Given the description of an element on the screen output the (x, y) to click on. 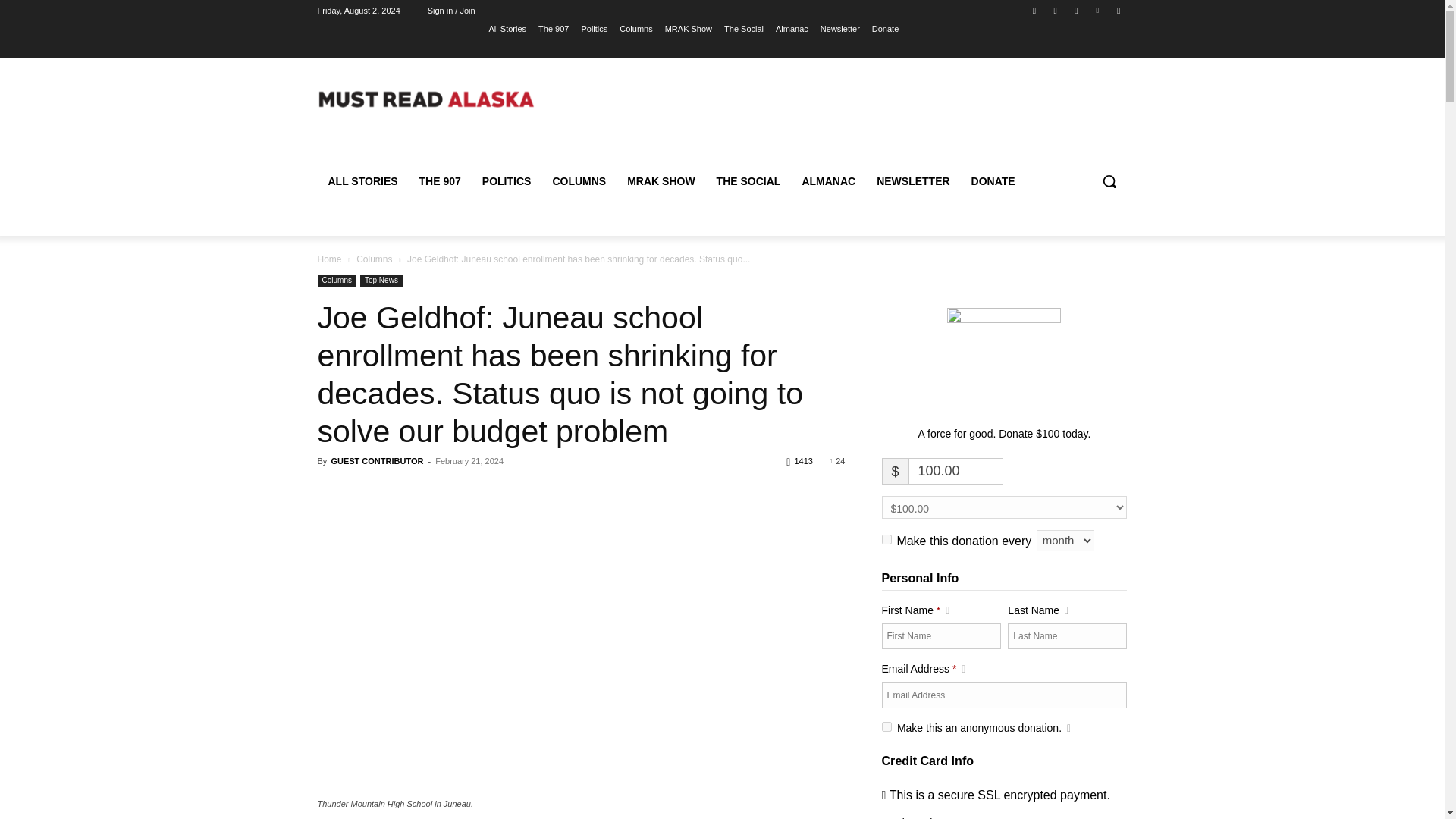
Instagram (1055, 9)
DONATE (993, 180)
Vimeo (1097, 9)
Donate (885, 28)
The Social (742, 28)
Facebook (1034, 9)
POLITICS (506, 180)
on (885, 539)
Youtube (1117, 9)
NEWSLETTER (912, 180)
THE SOCIAL (749, 180)
All Stories (508, 28)
Columns (636, 28)
Politics (593, 28)
Newsletter (840, 28)
